Given the description of an element on the screen output the (x, y) to click on. 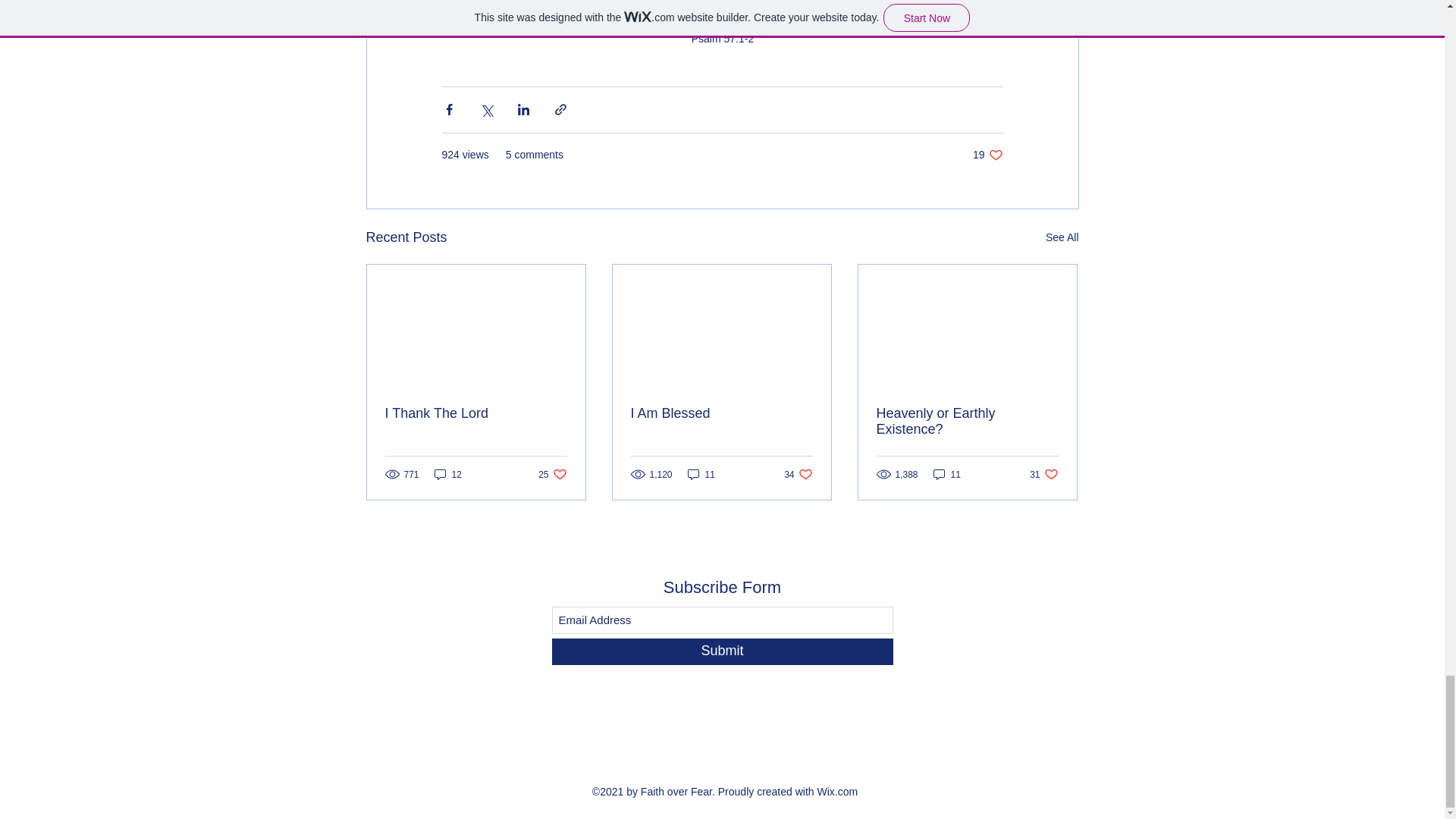
12 (447, 473)
11 (700, 473)
Submit (722, 651)
I Thank The Lord (476, 413)
See All (1043, 473)
11 (1061, 237)
Heavenly or Earthly Existence? (552, 473)
I Am Blessed (946, 473)
